Given the description of an element on the screen output the (x, y) to click on. 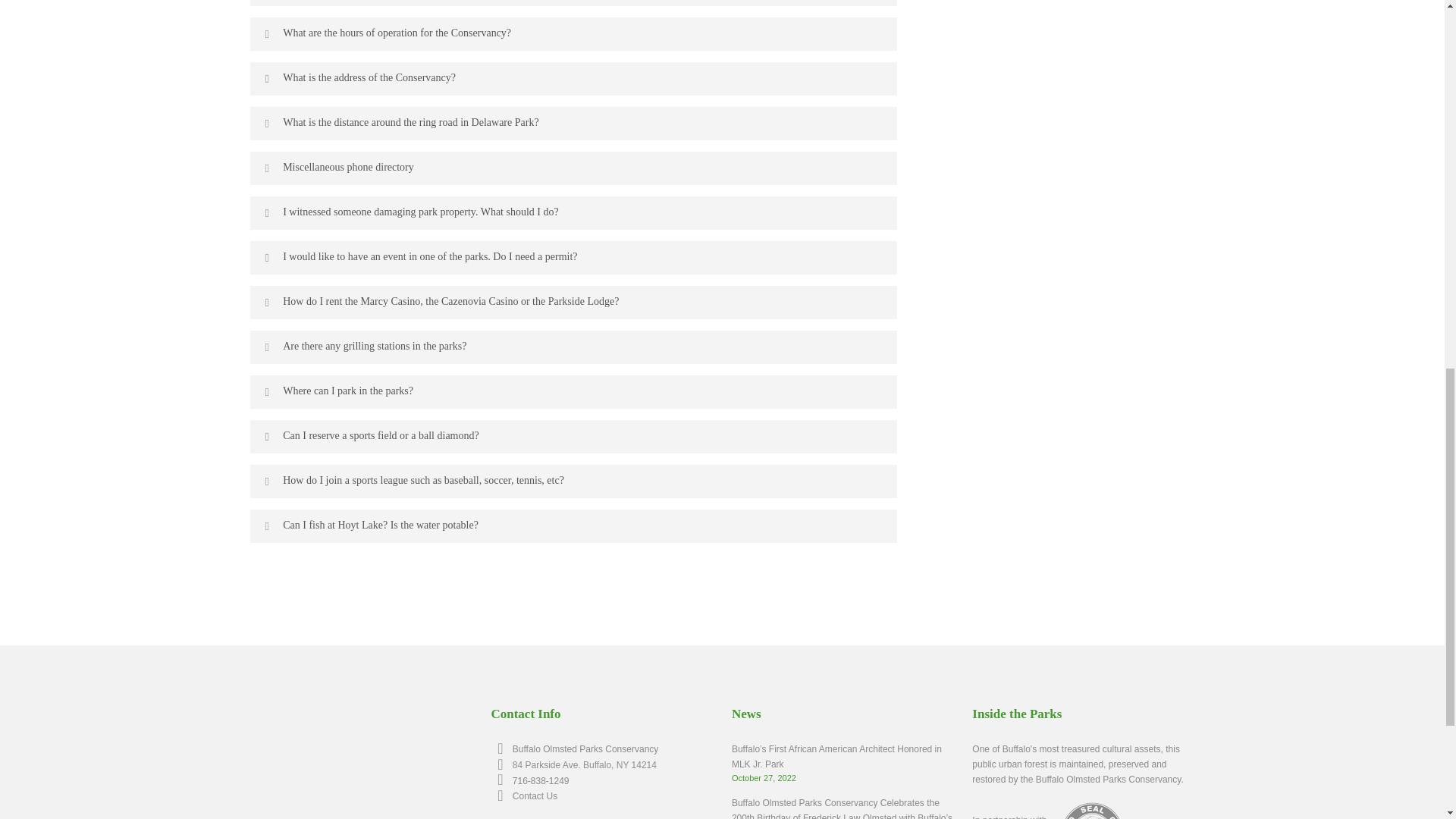
What is the address of the Conservancy? (573, 78)
Miscellaneous phone directory (573, 168)
What are the hours of operation for the Conservancy? (573, 33)
Where can I park in the parks? (573, 391)
Are there any grilling stations in the parks? (573, 346)
What is the distance around the ring road in Delaware Park? (573, 123)
